Given the description of an element on the screen output the (x, y) to click on. 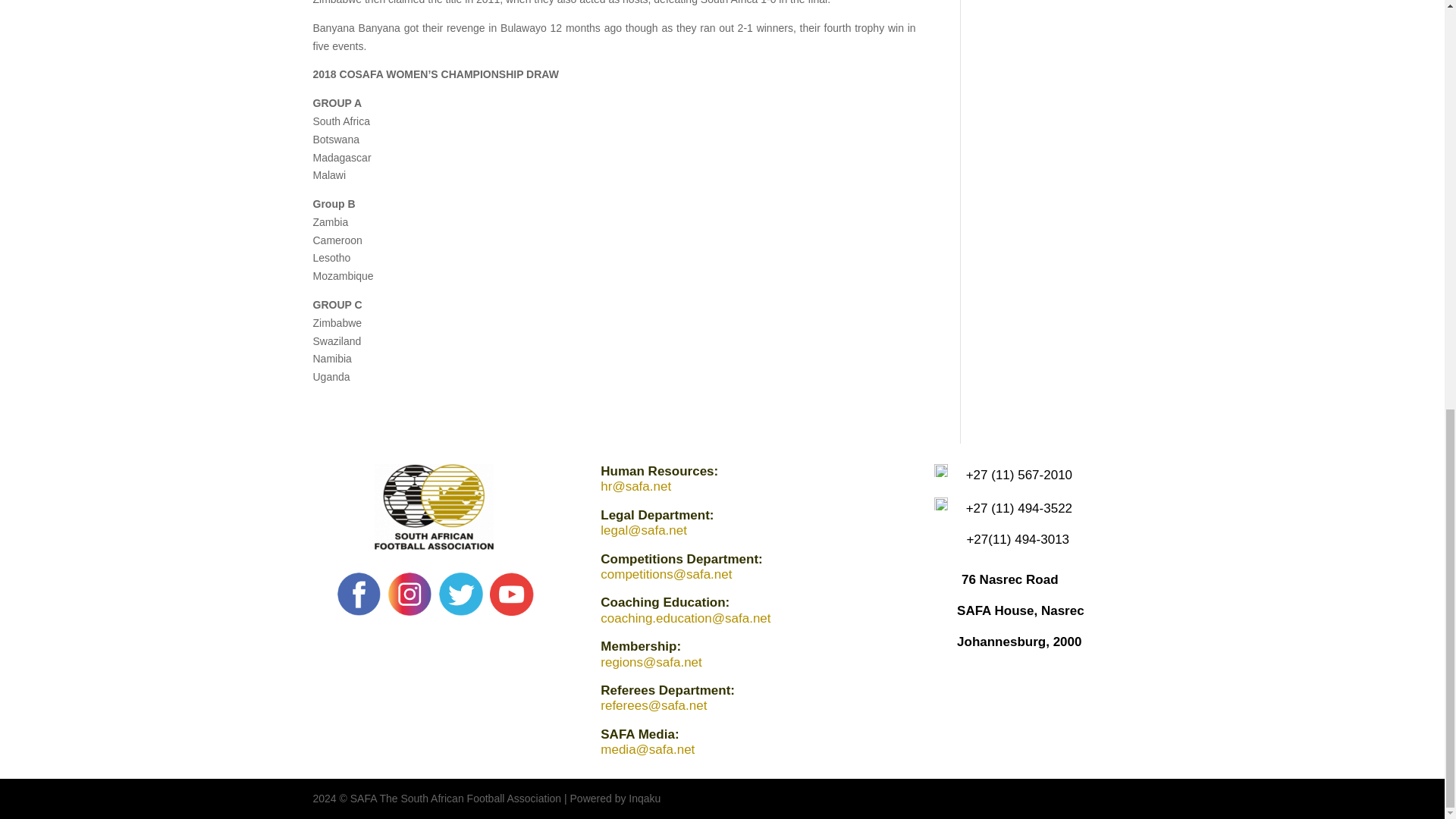
SAFA House, Nasrec (1020, 610)
76 Nasrec Road (1009, 579)
Johannesburg, 2000 (1018, 641)
